Given the description of an element on the screen output the (x, y) to click on. 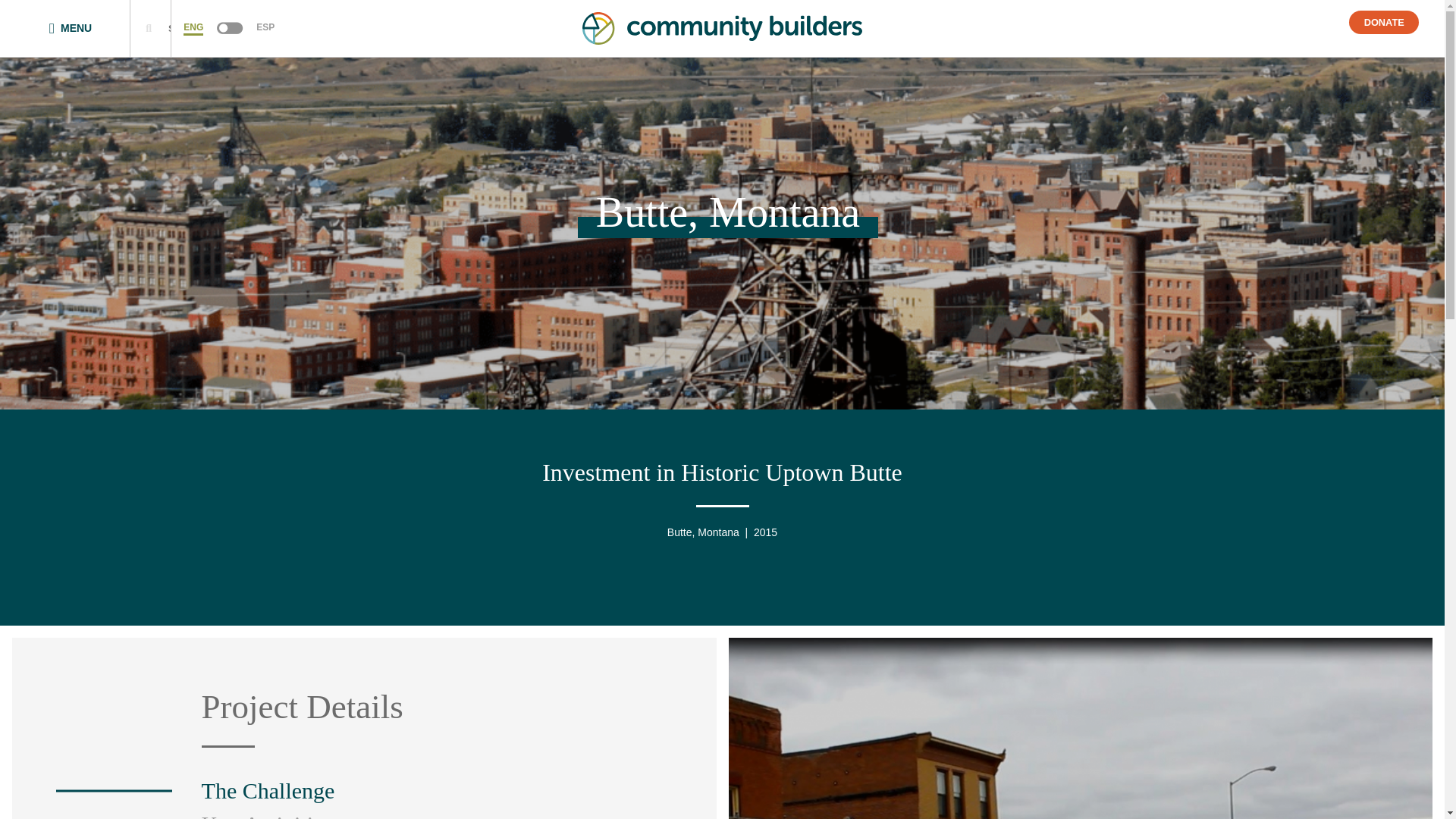
DONATE (1383, 22)
GO (252, 28)
ESP (265, 28)
ENG (193, 28)
